Given the description of an element on the screen output the (x, y) to click on. 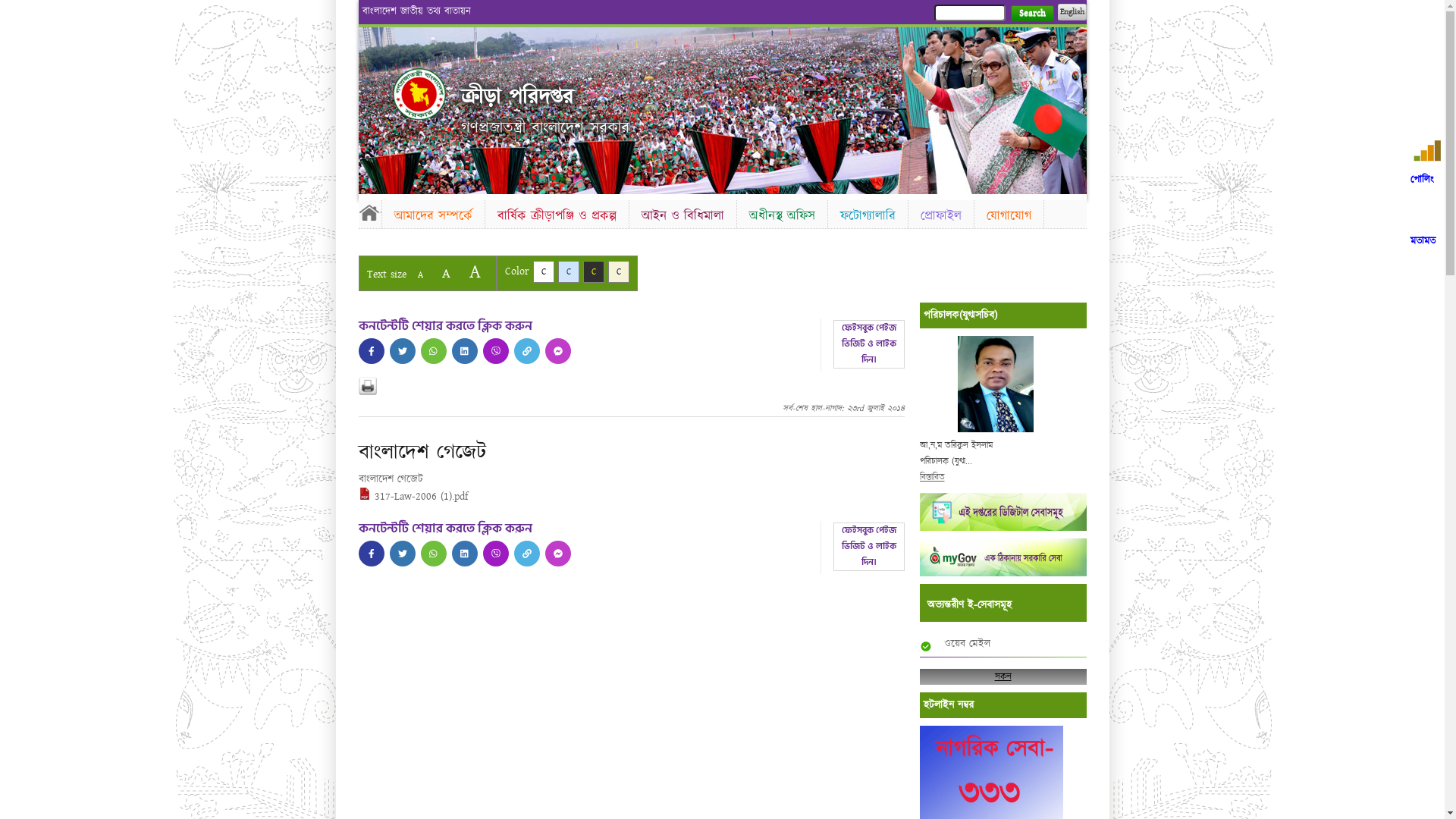
Home Element type: hover (418, 93)
A Element type: text (419, 274)
Home Element type: hover (368, 211)
C Element type: text (592, 271)
C Element type: text (568, 271)
C Element type: text (618, 271)
A Element type: text (474, 271)
C Element type: text (542, 271)
Search Element type: text (1031, 13)
317-Law-2006 (1).pdf Element type: text (412, 496)
A Element type: text (445, 273)
English Element type: text (1071, 11)
